Given the description of an element on the screen output the (x, y) to click on. 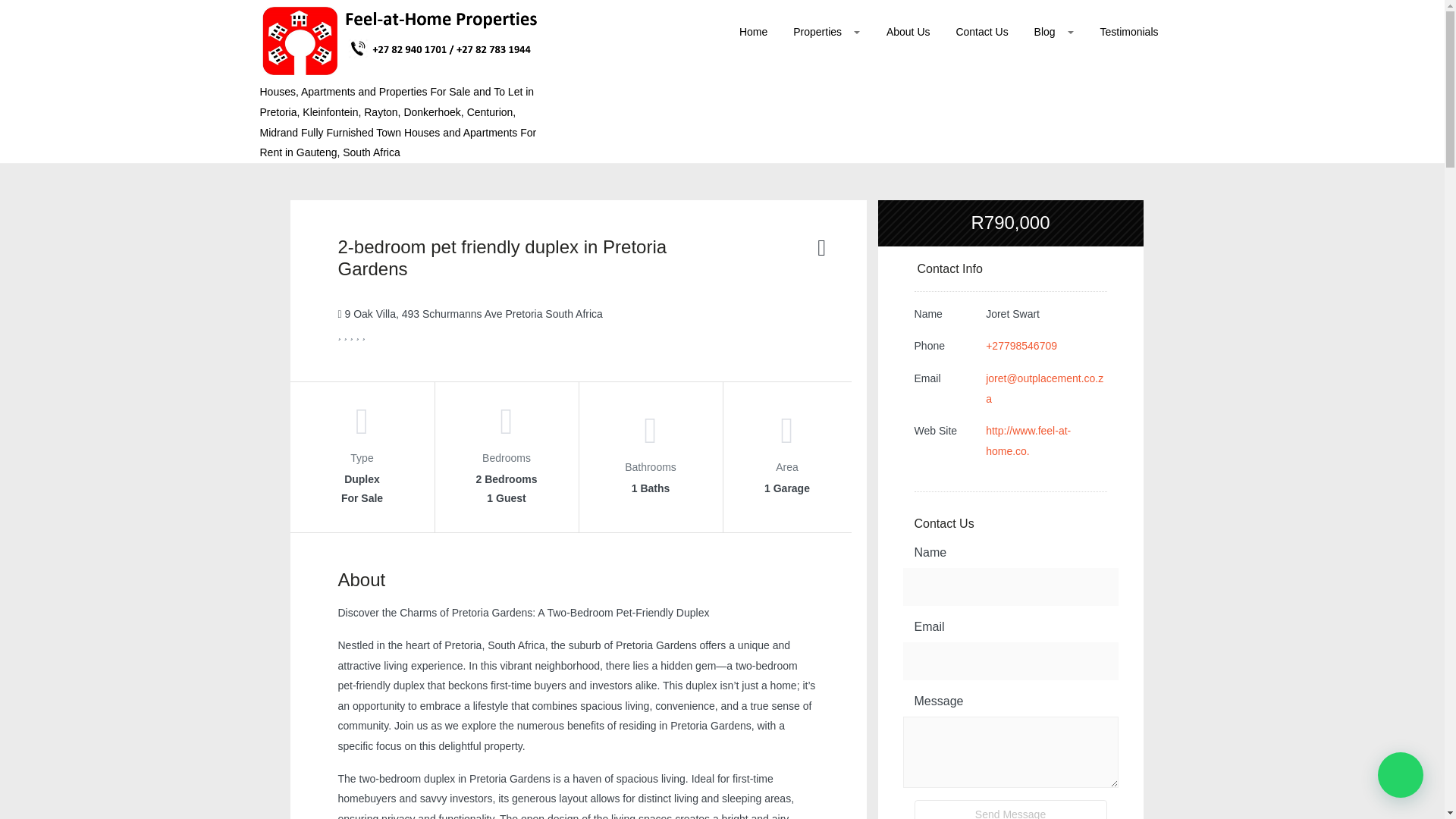
Properties (826, 31)
Contact Us (981, 36)
Blog (1054, 31)
Add to Favorites (820, 252)
Testimonials (1128, 36)
About Us (908, 36)
Home (753, 36)
